Given the description of an element on the screen output the (x, y) to click on. 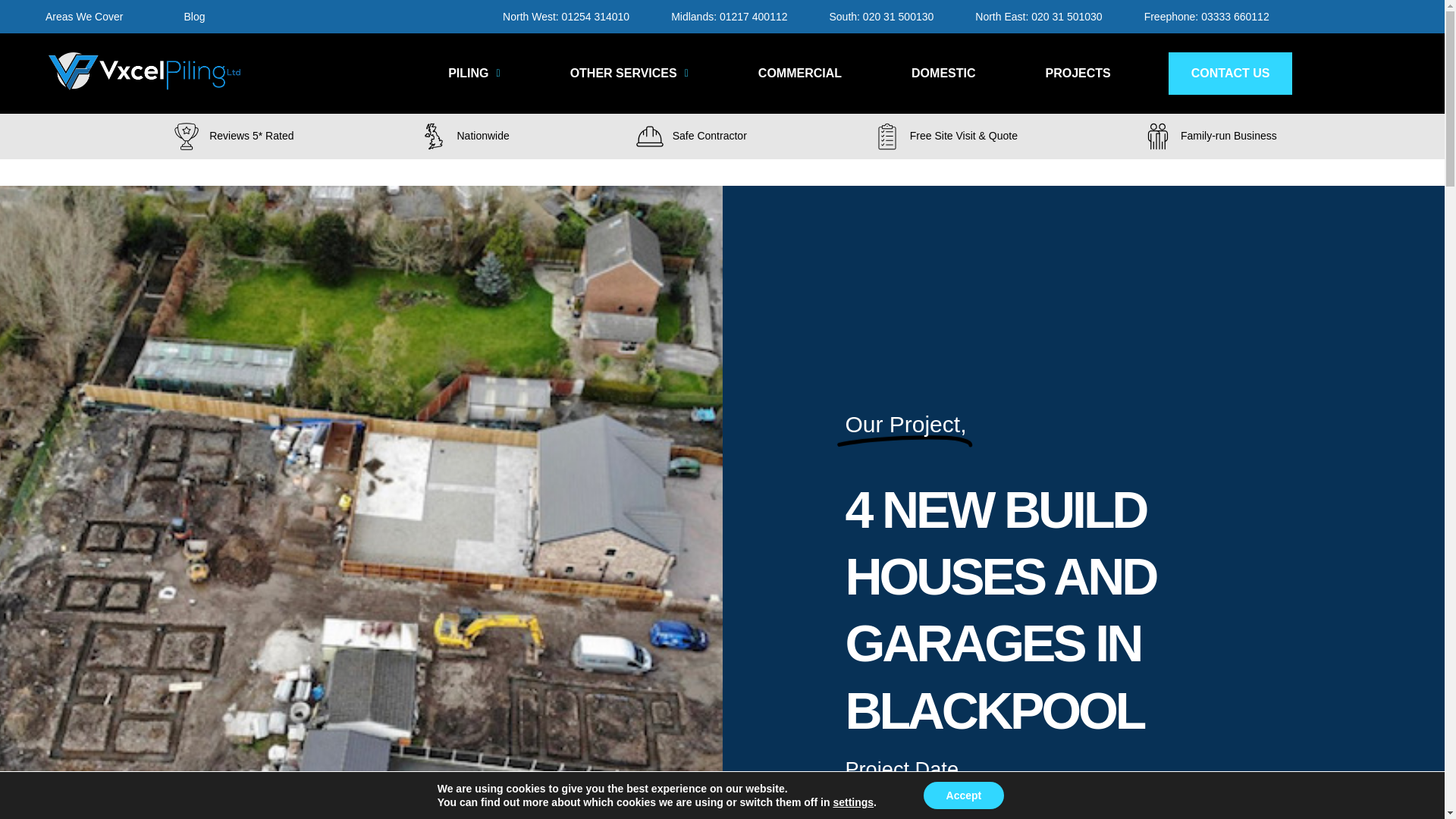
Midlands: 01217 400112 (728, 16)
South: 020 31 500130 (880, 16)
DOMESTIC (943, 73)
North West: 01254 314010 (566, 16)
CONTACT US (1230, 73)
Blog (194, 16)
Areas We Cover (83, 16)
North East: 020 31 501030 (1038, 16)
OTHER SERVICES (628, 73)
COMMERCIAL (799, 73)
